Given the description of an element on the screen output the (x, y) to click on. 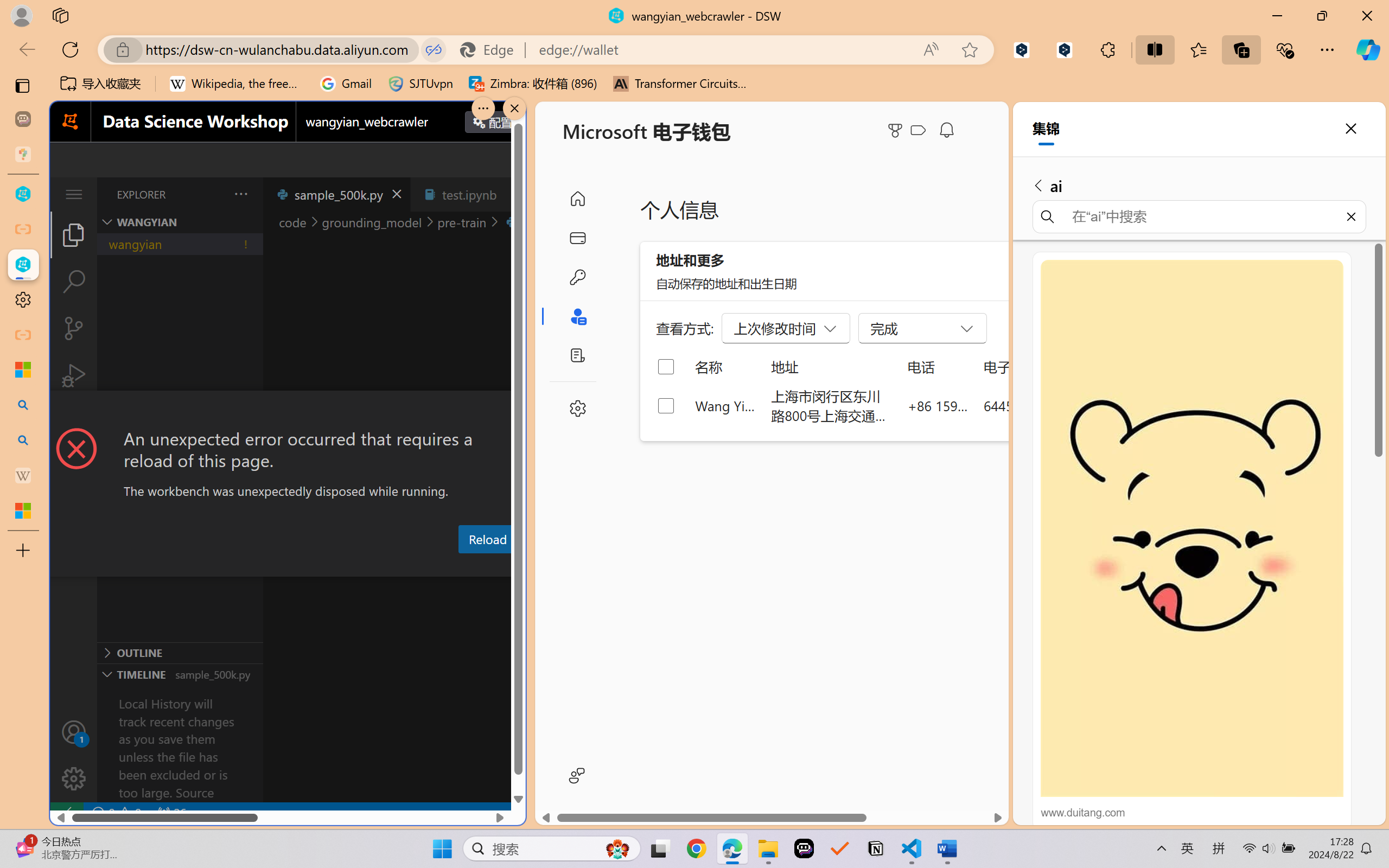
644553698@qq.com (1043, 405)
Transformer Circuits Thread (680, 83)
Explorer Section: wangyian (179, 221)
